Given the description of an element on the screen output the (x, y) to click on. 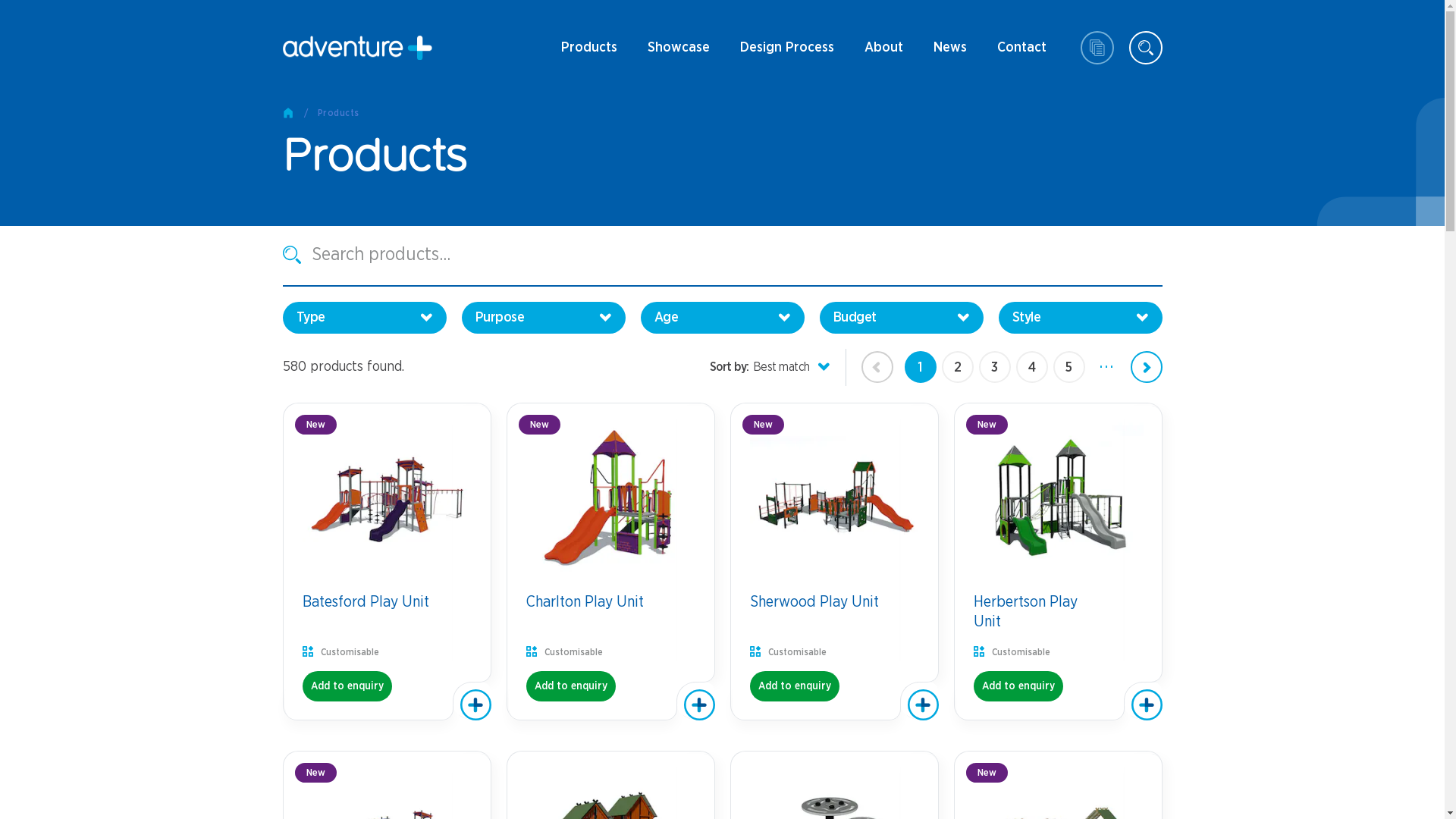
News Element type: text (949, 48)
Add to enquiry Element type: text (570, 686)
5 Element type: text (1068, 366)
Design Process Element type: text (786, 48)
Sherwood Play Unit Element type: text (832, 608)
3 Element type: text (994, 366)
1 Element type: text (919, 366)
Contact Element type: text (1020, 48)
Add to enquiry Element type: text (793, 686)
Charlton Play Unit Element type: text (603, 608)
... Element type: text (1105, 366)
Add to enquiry Element type: text (346, 686)
Products Element type: text (337, 112)
2 Element type: text (957, 366)
About Element type: text (883, 48)
Showcase Element type: text (678, 48)
4 Element type: text (1032, 366)
Herbertson Play Unit Element type: text (1058, 618)
Batesford Play Unit Element type: text (383, 608)
Add to enquiry Element type: text (1018, 686)
Products Element type: text (589, 48)
